Given the description of an element on the screen output the (x, y) to click on. 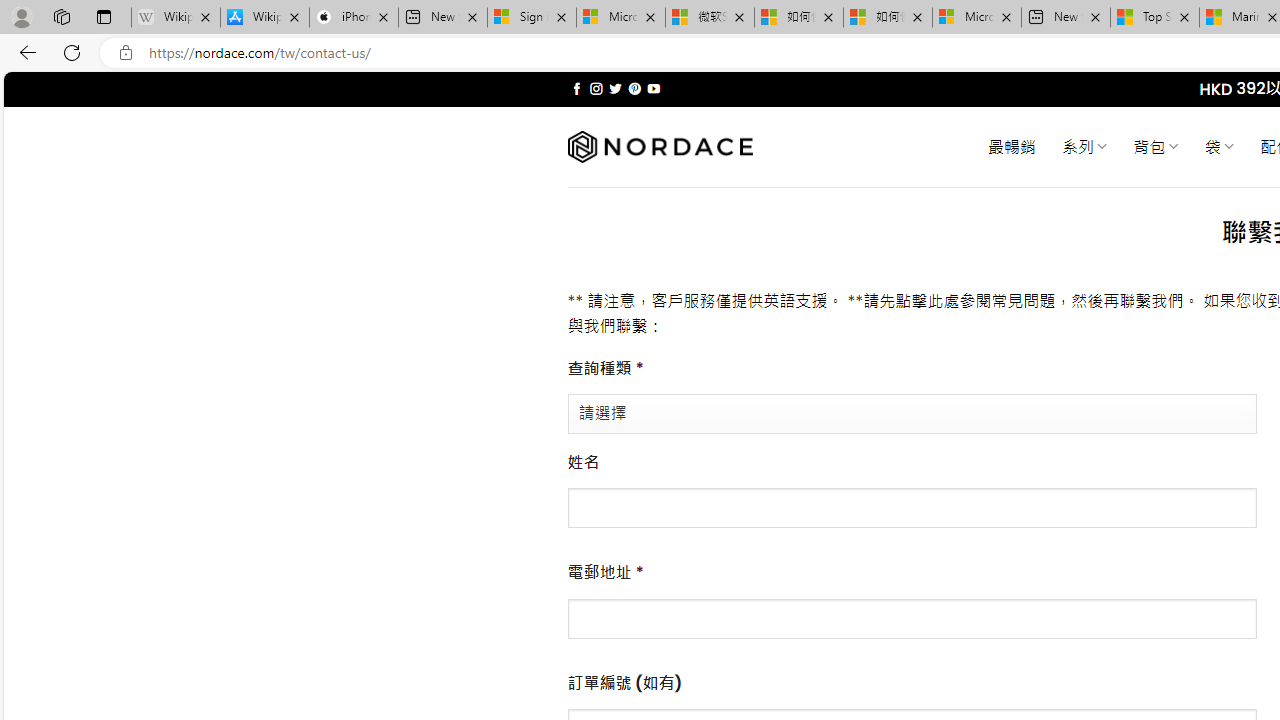
iPhone - Apple (353, 17)
Follow on Pinterest (634, 88)
Follow on Instagram (596, 88)
Follow on Facebook (576, 88)
Follow on Twitter (615, 88)
